Given the description of an element on the screen output the (x, y) to click on. 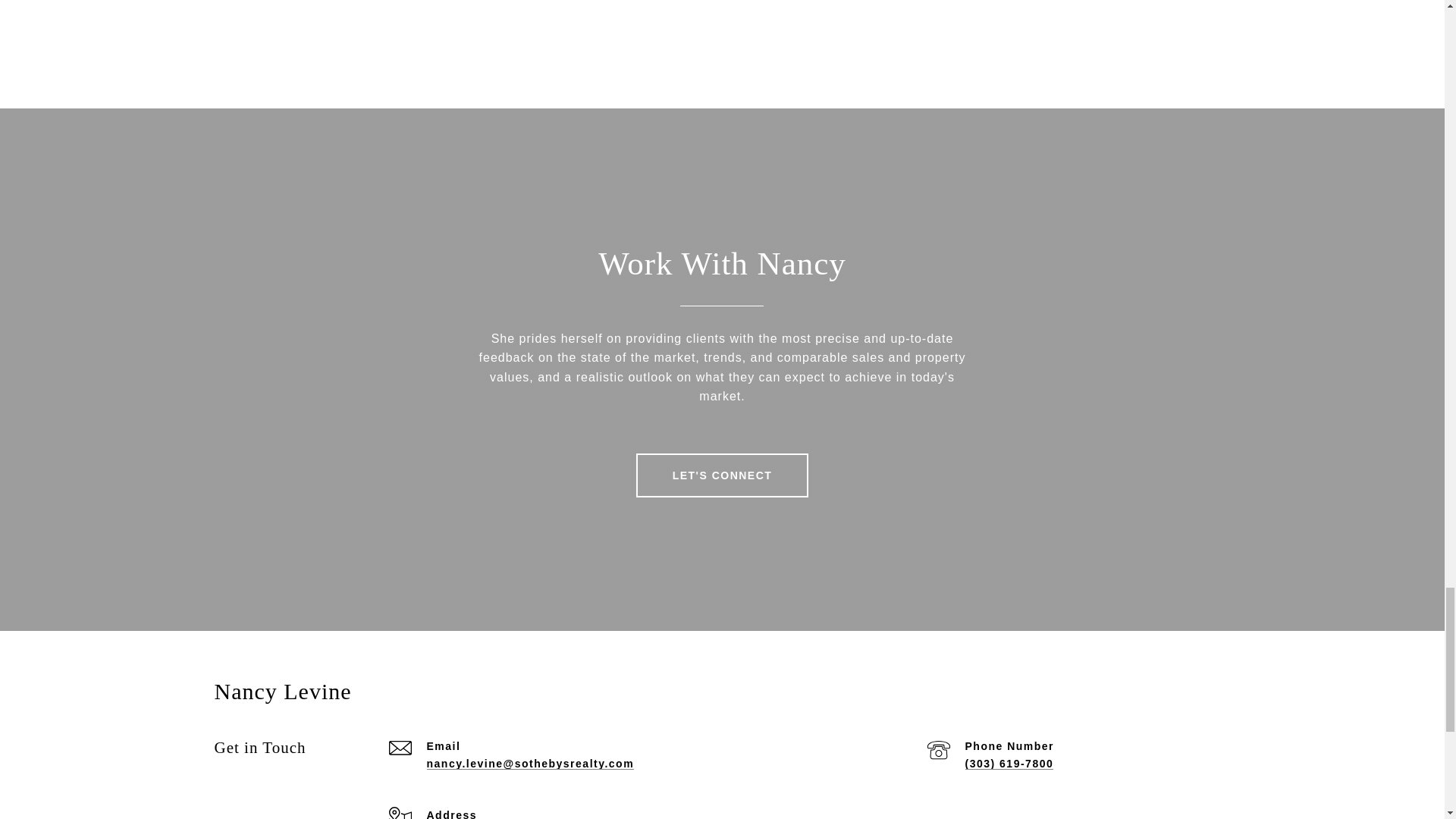
LET'S CONNECT (722, 475)
